Given the description of an element on the screen output the (x, y) to click on. 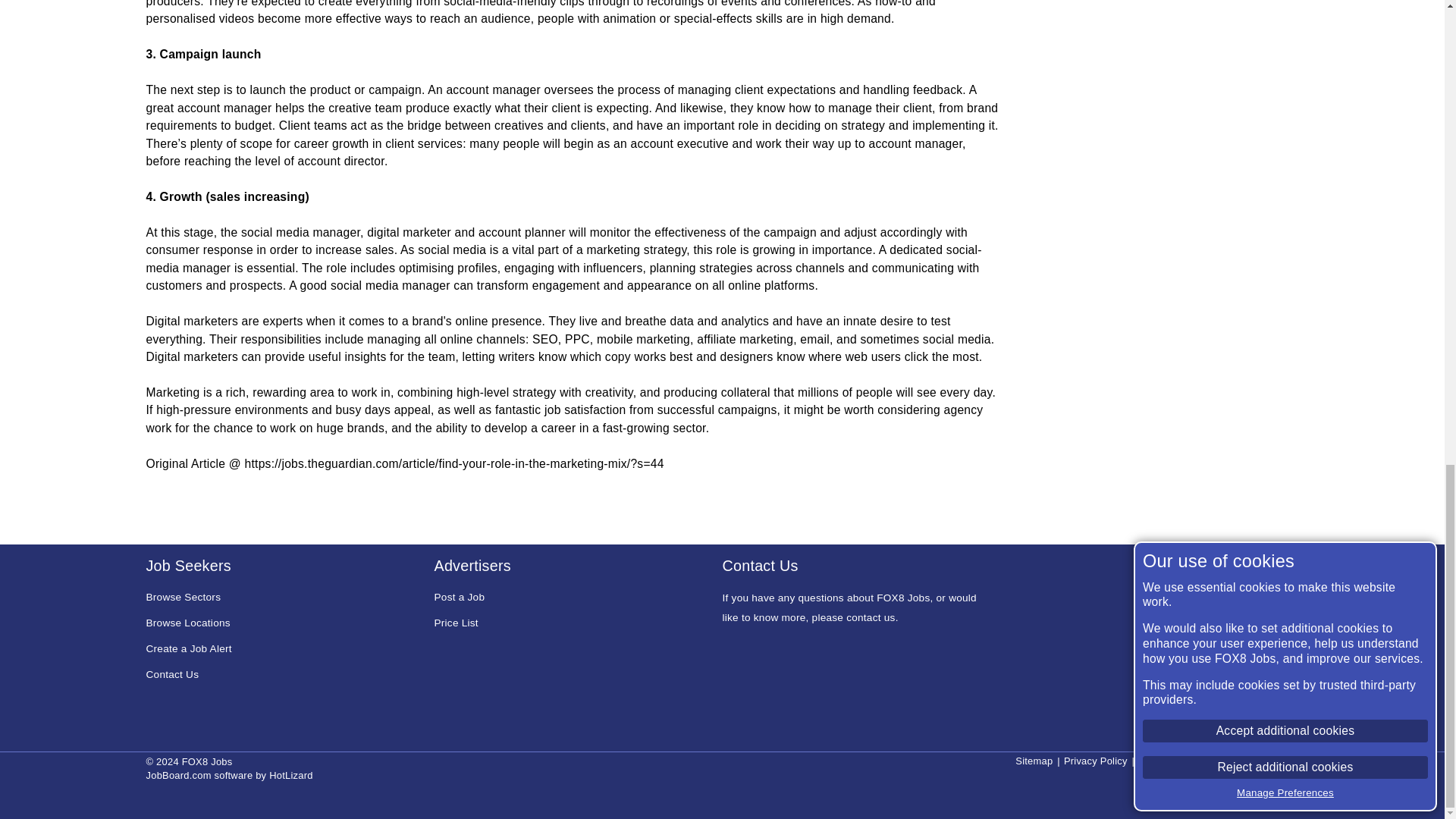
JobBoard.com (178, 775)
Post a Job (458, 598)
Price List (455, 623)
HotLizard (291, 775)
Browse Sectors (183, 598)
Privacy Policy (1095, 760)
Cookie Preferences (1253, 760)
Browse Locations (187, 623)
contact us (870, 617)
Contact Us (171, 675)
